Given the description of an element on the screen output the (x, y) to click on. 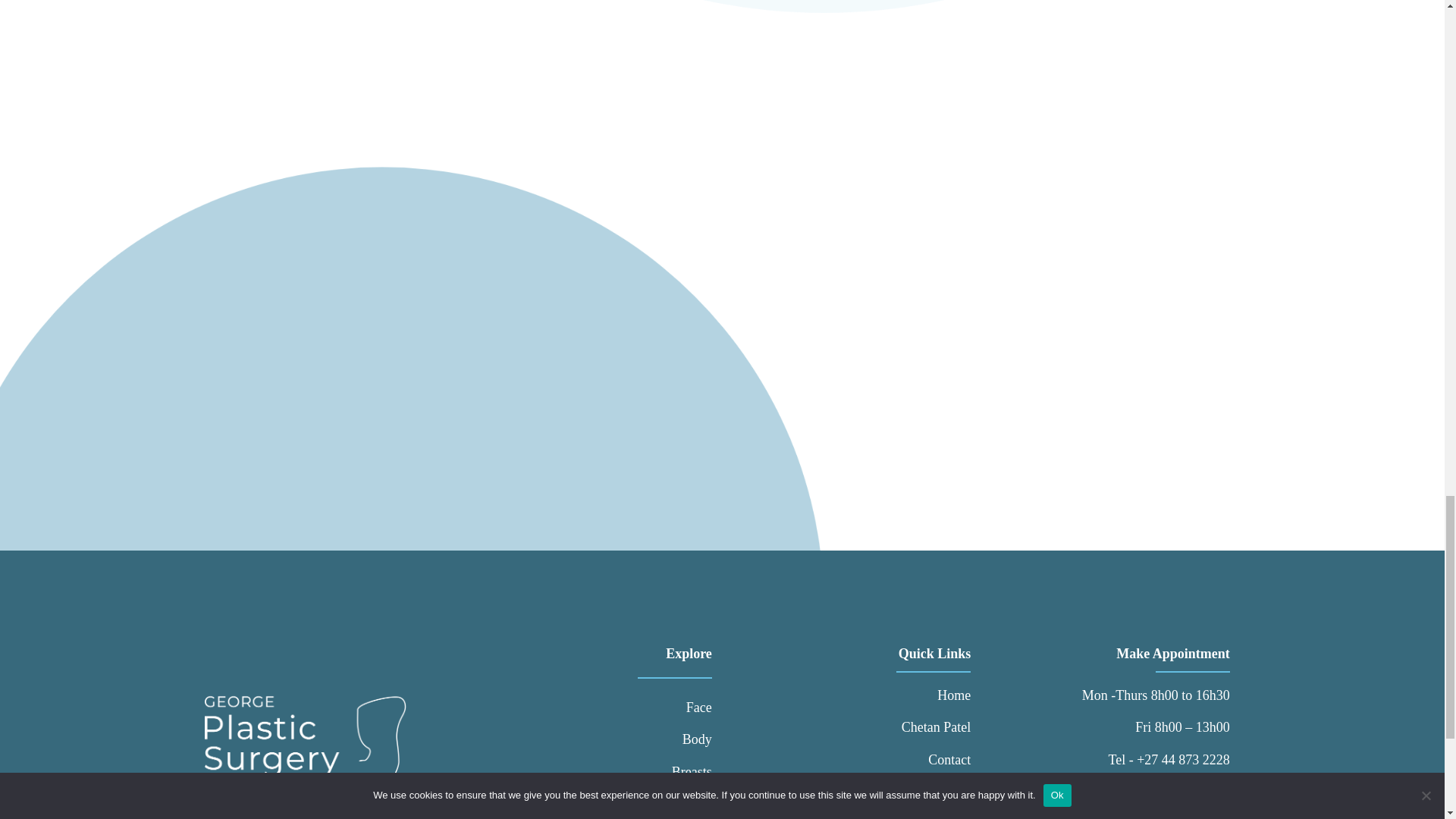
Chetan Patel (936, 726)
Contact (936, 759)
Face (669, 707)
Breasts (669, 771)
Body (669, 739)
Oculoplastics (669, 803)
Home (936, 695)
